Given the description of an element on the screen output the (x, y) to click on. 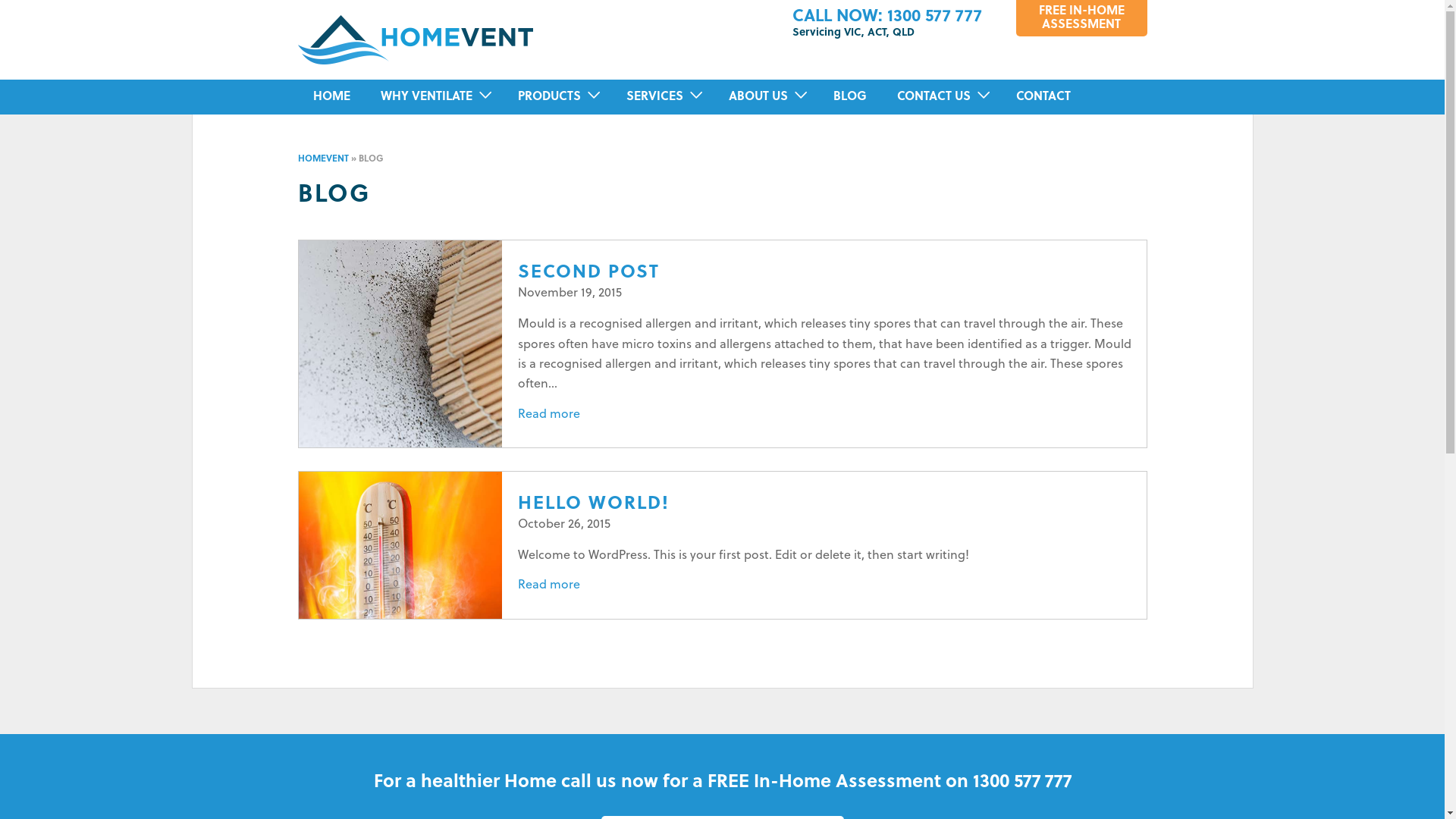
PRODUCTS Element type: text (548, 96)
SERVICES Element type: text (654, 96)
FREE IN-HOME
ASSESSMENT Element type: text (1081, 17)
Homevent Element type: hover (414, 40)
CONTACT Element type: text (1043, 96)
Read more Element type: text (548, 585)
ABOUT US Element type: text (757, 96)
HELLO WORLD! Element type: text (593, 504)
BLOG Element type: text (849, 96)
HOME Element type: text (330, 96)
CONTACT US Element type: text (933, 96)
Read more Element type: text (548, 414)
WHY VENTILATE Element type: text (426, 96)
HOMEVENT Element type: text (322, 158)
SECOND POST Element type: text (588, 272)
